Given the description of an element on the screen output the (x, y) to click on. 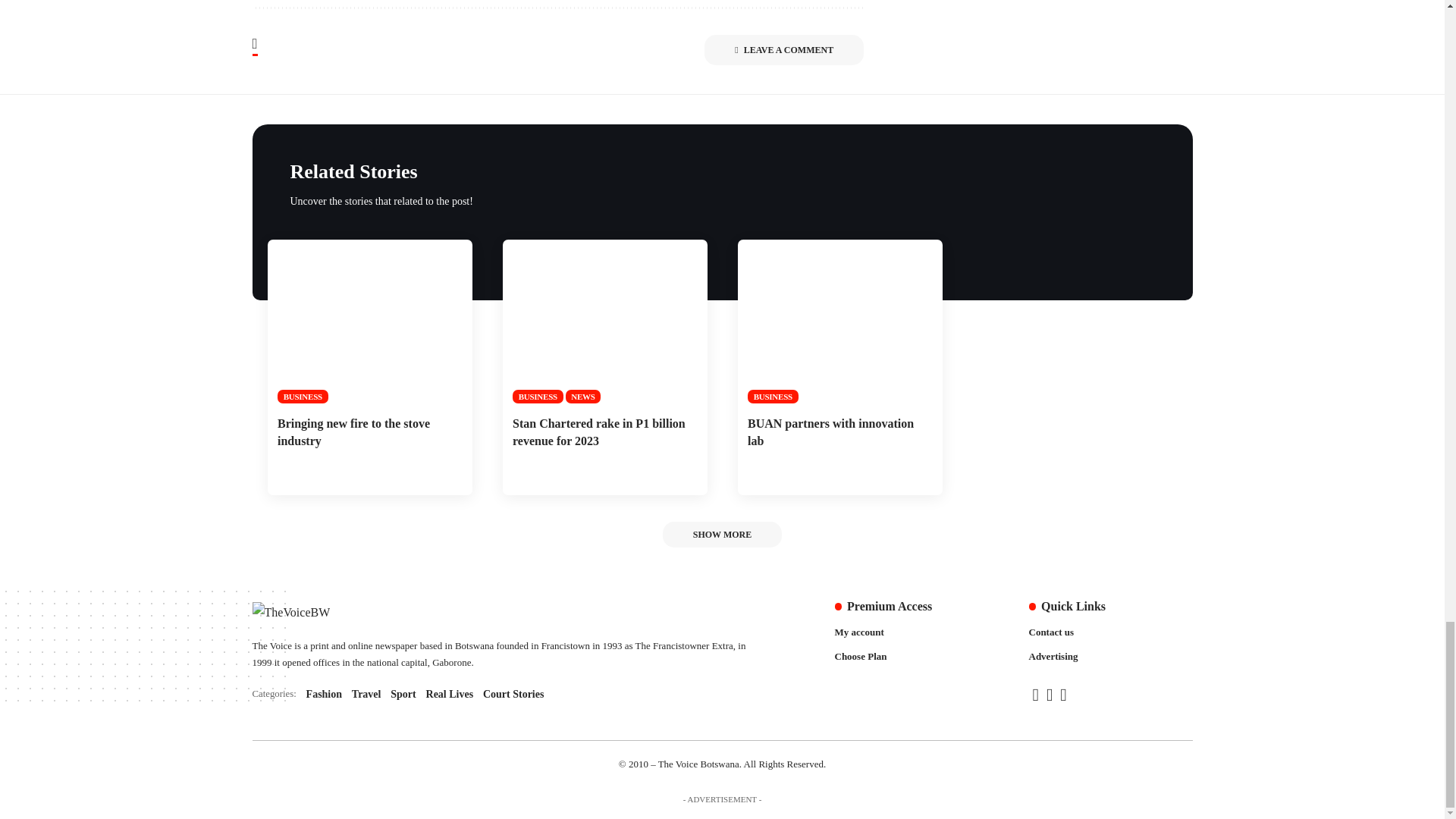
BUAN partners with innovation lab (839, 321)
Stan Chartered rake in P1 billion revenue for 2023 (604, 321)
Bringing new fire to the stove industry (368, 321)
